Given the description of an element on the screen output the (x, y) to click on. 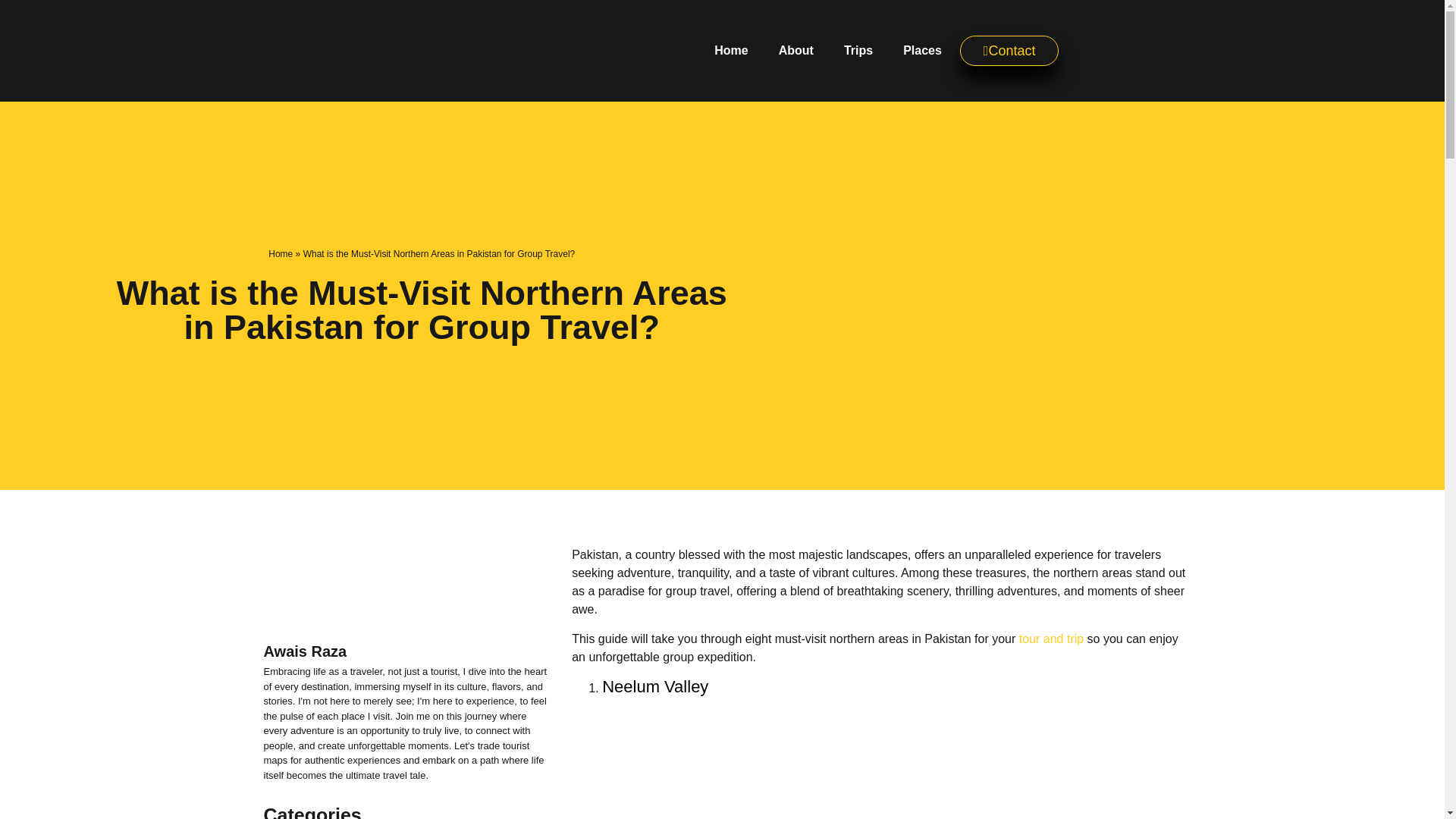
Places (922, 50)
Home (730, 50)
tour and trip (1051, 638)
Trips (858, 50)
About (795, 50)
Contact (1009, 51)
Home (279, 253)
